Given the description of an element on the screen output the (x, y) to click on. 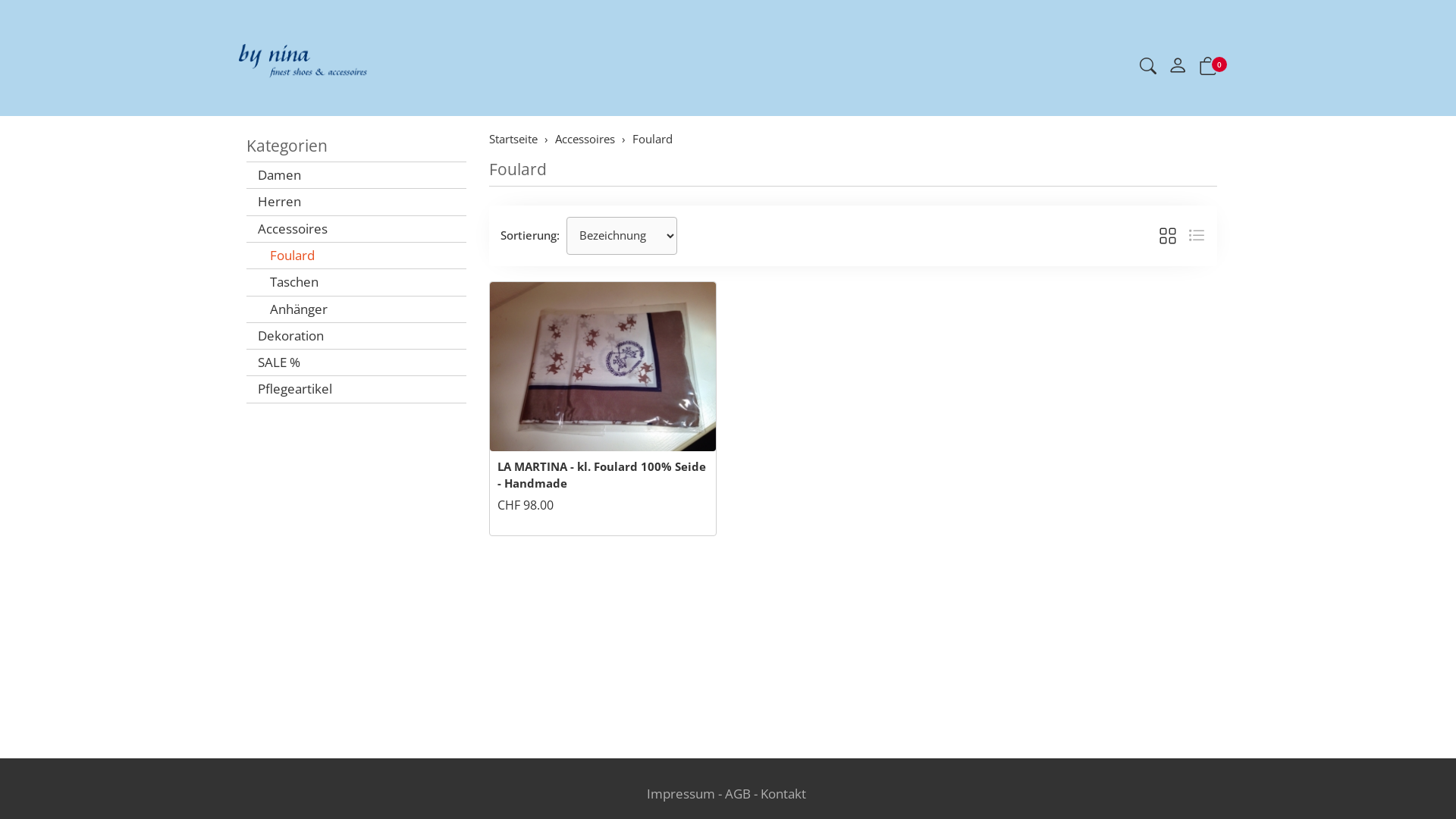
0 Element type: text (1207, 67)
Kontakt Element type: text (783, 793)
Accessoires Element type: text (585, 138)
Foulard Element type: text (652, 138)
Suche Element type: hover (1147, 67)
LA MARTINA - kl. Foulard 100% Seide - Handmade Element type: text (601, 473)
Listenansicht Element type: hover (1196, 235)
Dekoration Element type: text (356, 335)
Taschen Element type: text (356, 281)
Foulard Element type: text (517, 168)
Accessoires Element type: text (356, 228)
Startseite Element type: text (513, 138)
AGB Element type: text (737, 793)
Pflegeartikel Element type: text (356, 388)
Damen Element type: text (356, 175)
SALE % Element type: text (356, 362)
Mein Konto Element type: hover (1177, 67)
Kachelansicht Element type: hover (1167, 235)
Herren Element type: text (356, 201)
Impressum Element type: text (680, 793)
Foulard Element type: text (356, 255)
